Given the description of an element on the screen output the (x, y) to click on. 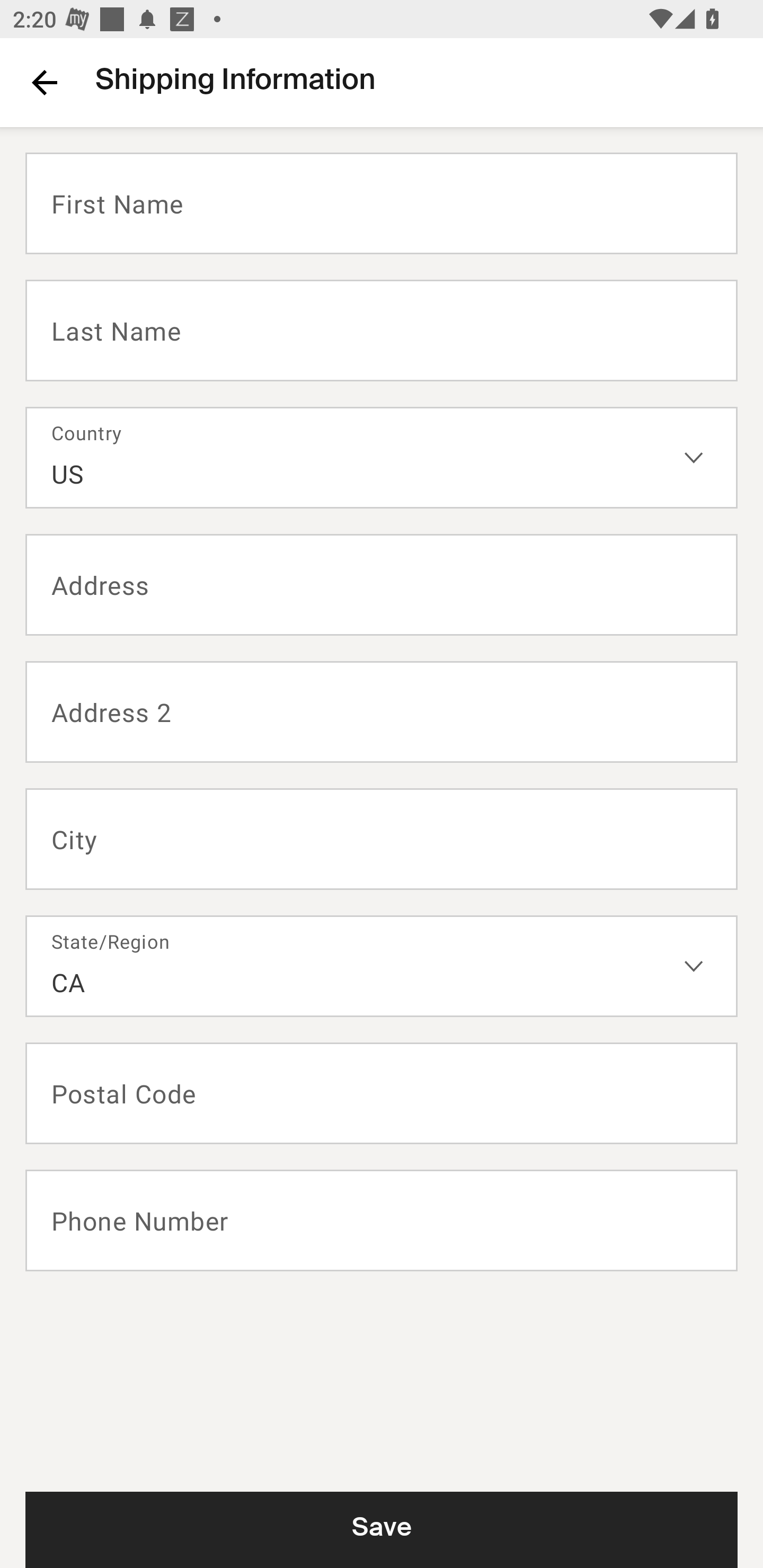
Navigate up (44, 82)
First Name (381, 203)
Last Name (381, 330)
Address (381, 584)
Address 2 (381, 711)
City (381, 839)
Postal Code (381, 1093)
Phone Number (381, 1220)
Save (381, 1529)
